Given the description of an element on the screen output the (x, y) to click on. 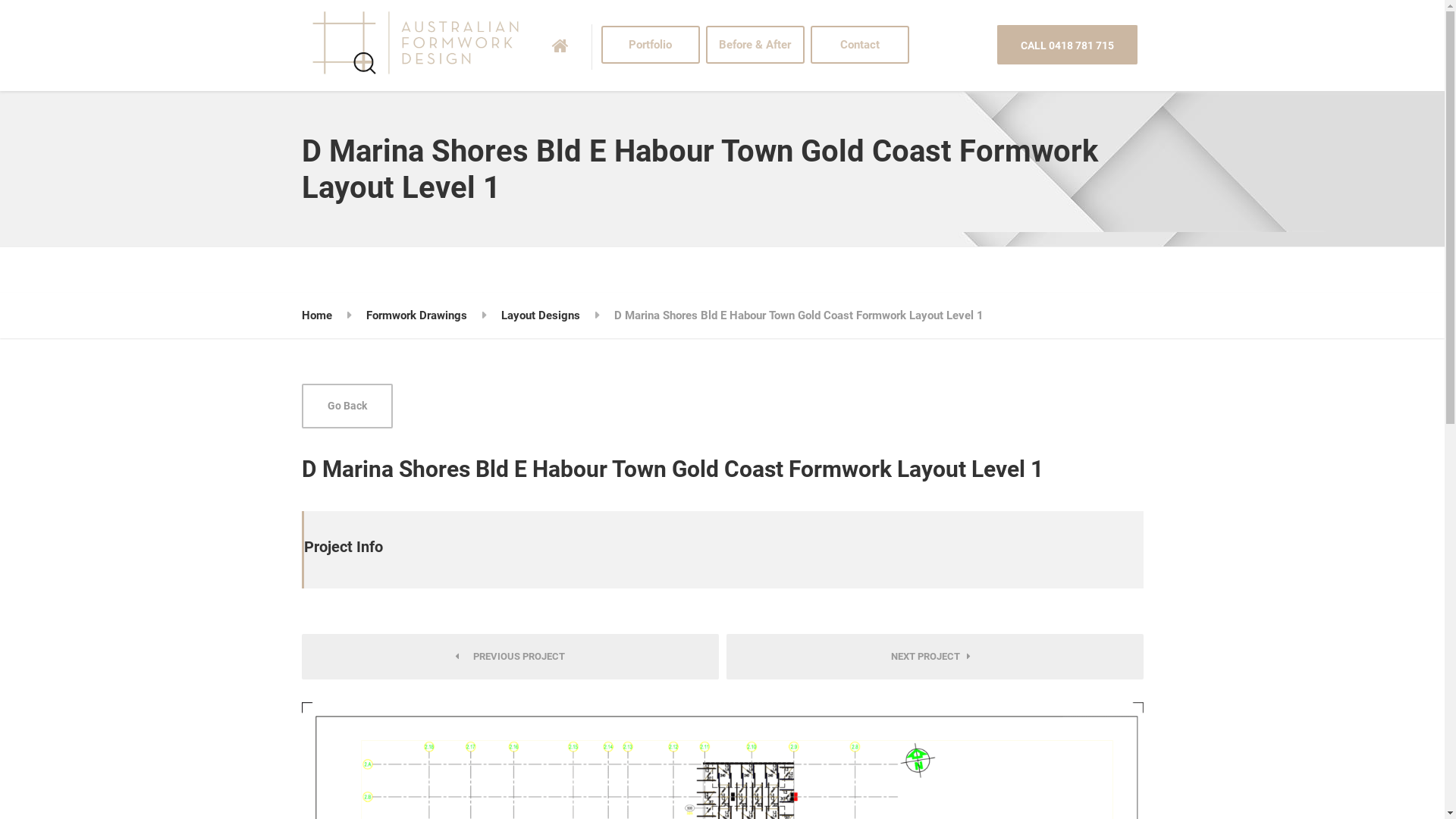
Before & After Element type: text (754, 44)
Go Back Element type: text (346, 405)
Portfolio Element type: text (649, 44)
Home Element type: text (316, 315)
Formwork Drawings Element type: text (415, 315)
Layout Designs Element type: text (539, 315)
Go Back Element type: text (346, 405)
Contact Element type: text (858, 44)
  PREVIOUS PROJECT Element type: text (509, 655)
NEXT PROJECT   Element type: text (934, 655)
CALL 0418 781 715 Element type: text (1066, 44)
